Given the description of an element on the screen output the (x, y) to click on. 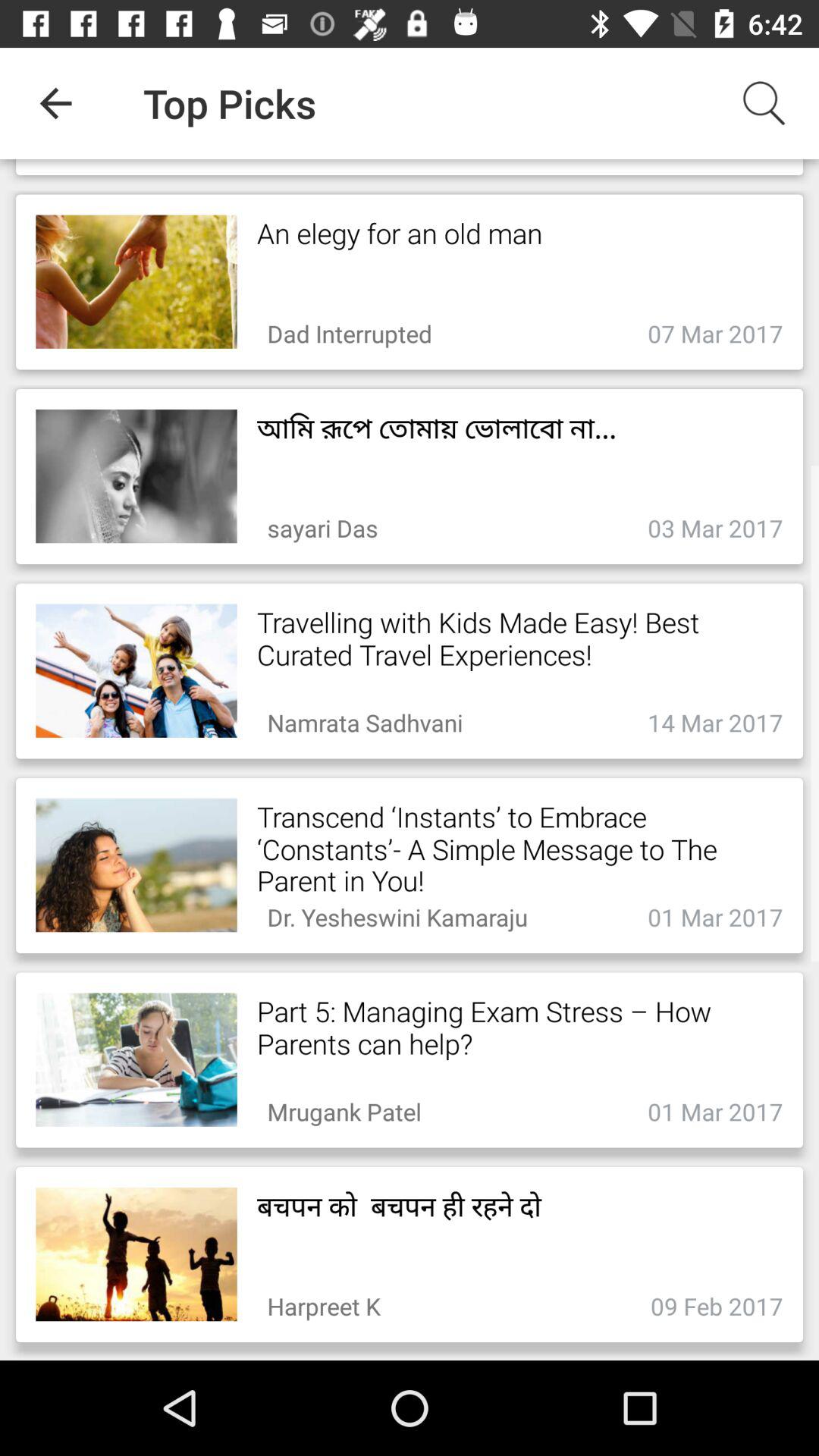
open item below part 5 managing (344, 1107)
